Given the description of an element on the screen output the (x, y) to click on. 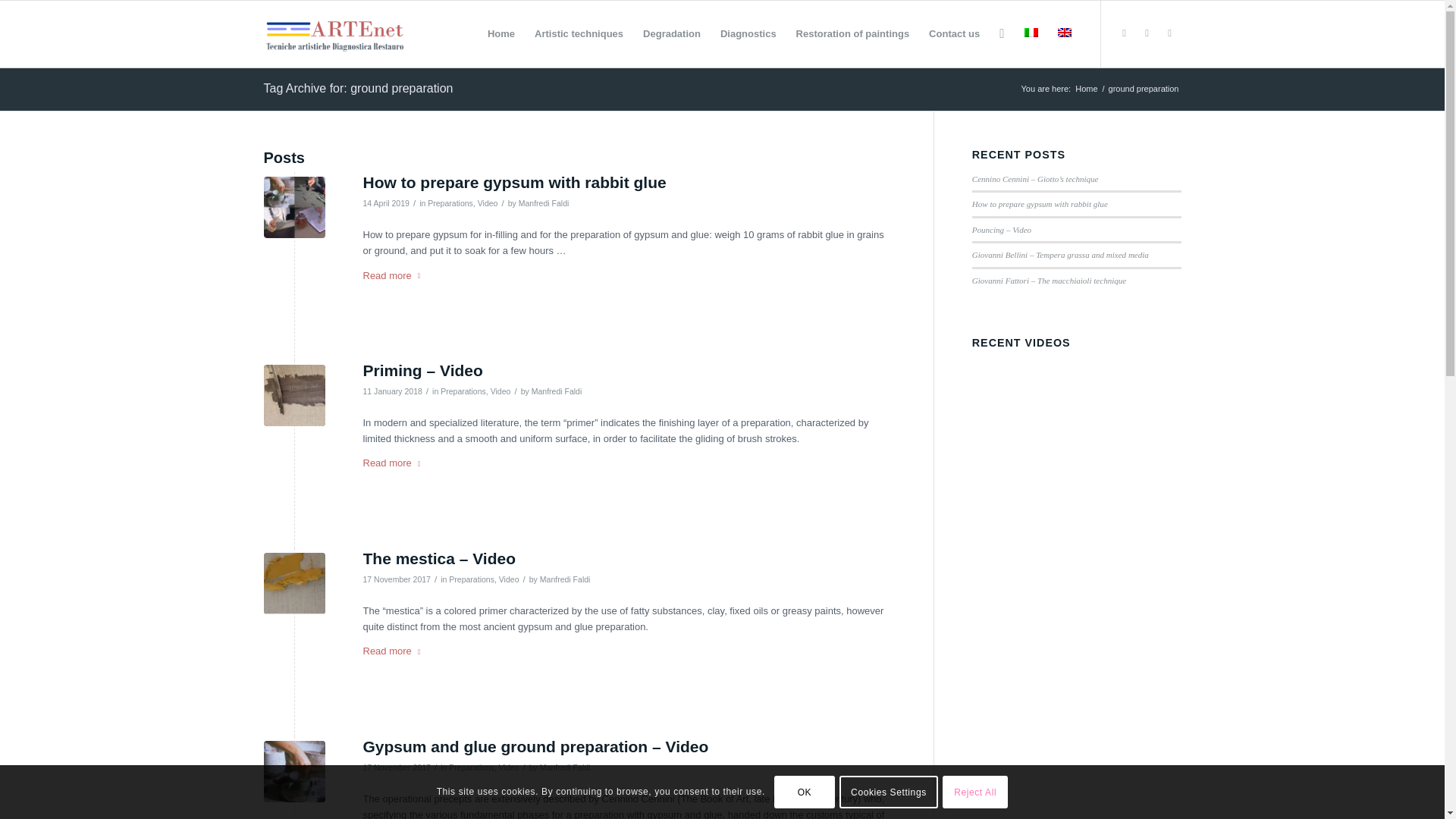
Posts by Manfredi Faldi (556, 390)
imprimitura (293, 394)
Italiano (1029, 31)
Rss (1169, 33)
ARTEnet (1086, 89)
mestica su tela (293, 583)
Permanent Link: Tag Archive for: ground preparation (357, 88)
English (1063, 31)
Permanent Link: How to prepare gypsum with rabbit glue (513, 181)
Come si prepara il gesso (293, 207)
Youtube (1146, 33)
Facebook (1124, 33)
Degradation (671, 33)
Posts by Manfredi Faldi (543, 203)
Artistic techniques (578, 33)
